Given the description of an element on the screen output the (x, y) to click on. 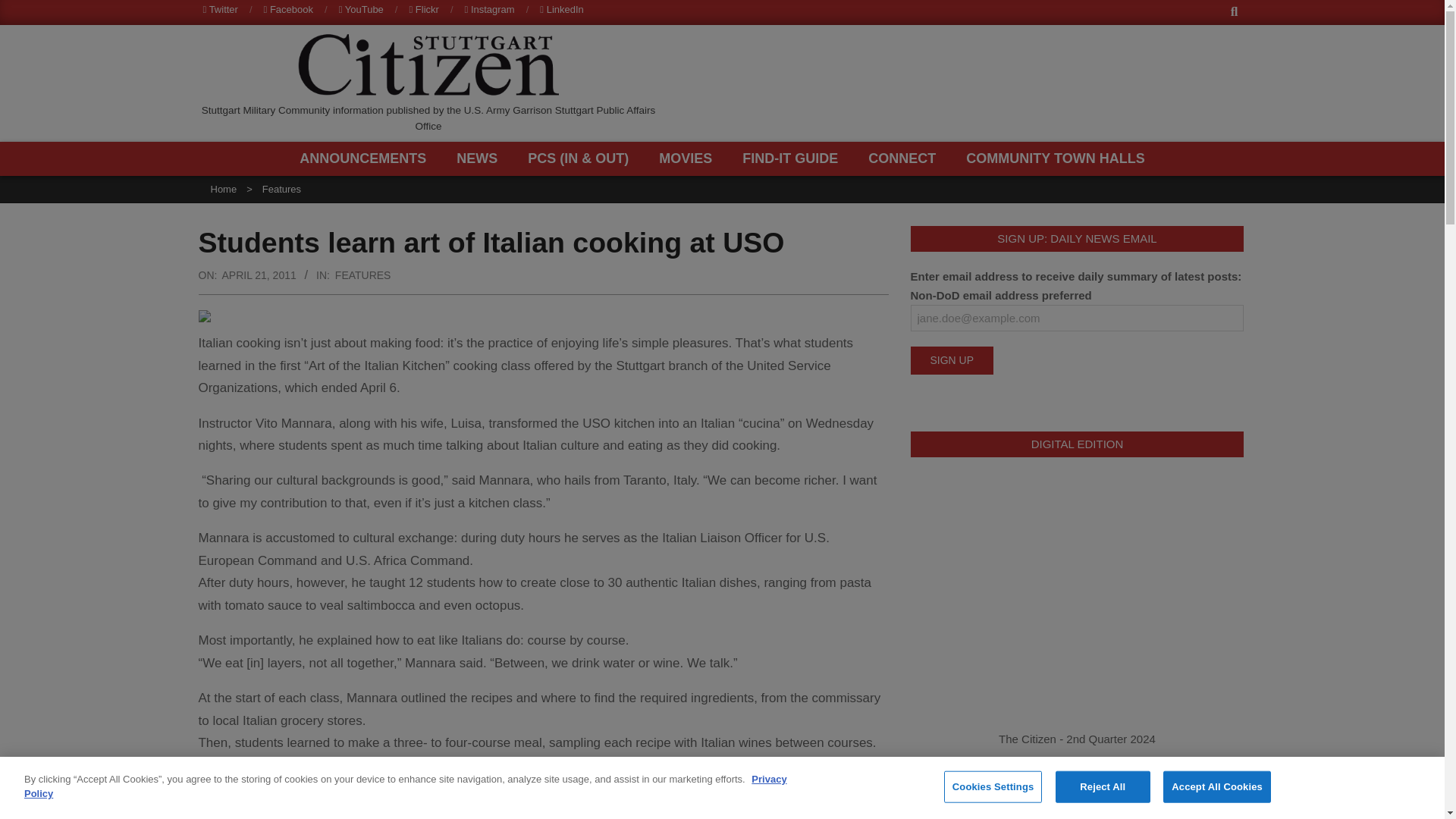
Search (24, 9)
ANNOUNCEMENTS (366, 158)
MOVIES (688, 158)
Instagram (489, 9)
Go to the Features Category archives. (281, 188)
Facebook (288, 9)
Flickr (423, 9)
CONNECT (906, 158)
Go to StuttgartCitizen.com. (224, 188)
Twitter (220, 9)
NEWS (480, 158)
Sign up (951, 360)
Thursday, April 21, 2011, 10:02 am (258, 275)
3rd party ad content (963, 83)
YouTube (361, 9)
